Given the description of an element on the screen output the (x, y) to click on. 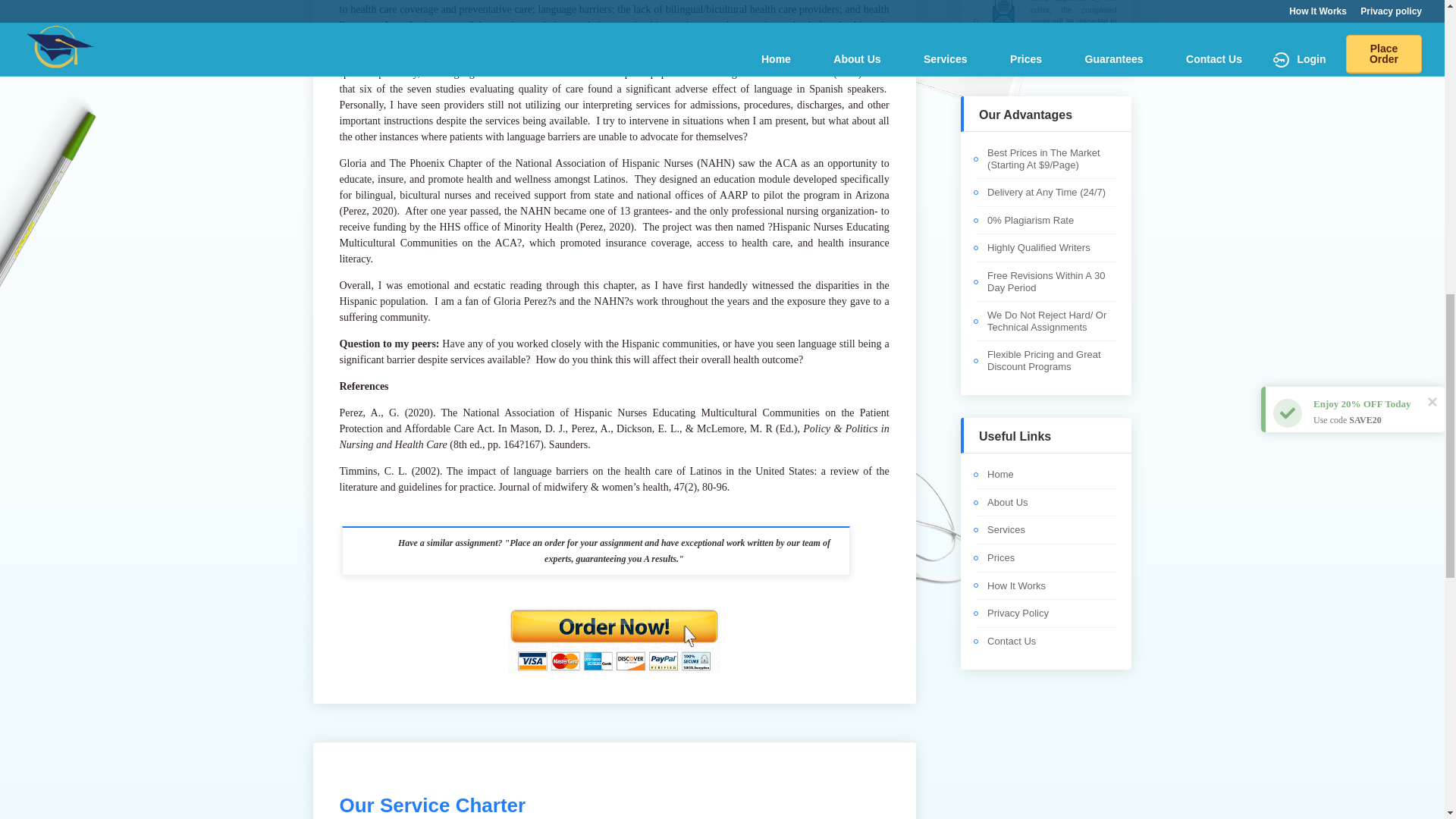
Home (1000, 473)
Prices (1000, 557)
How It Works (1016, 585)
Contact Us (1011, 641)
Services (1006, 529)
About Us (1007, 501)
Privacy Policy (1017, 613)
